Given the description of an element on the screen output the (x, y) to click on. 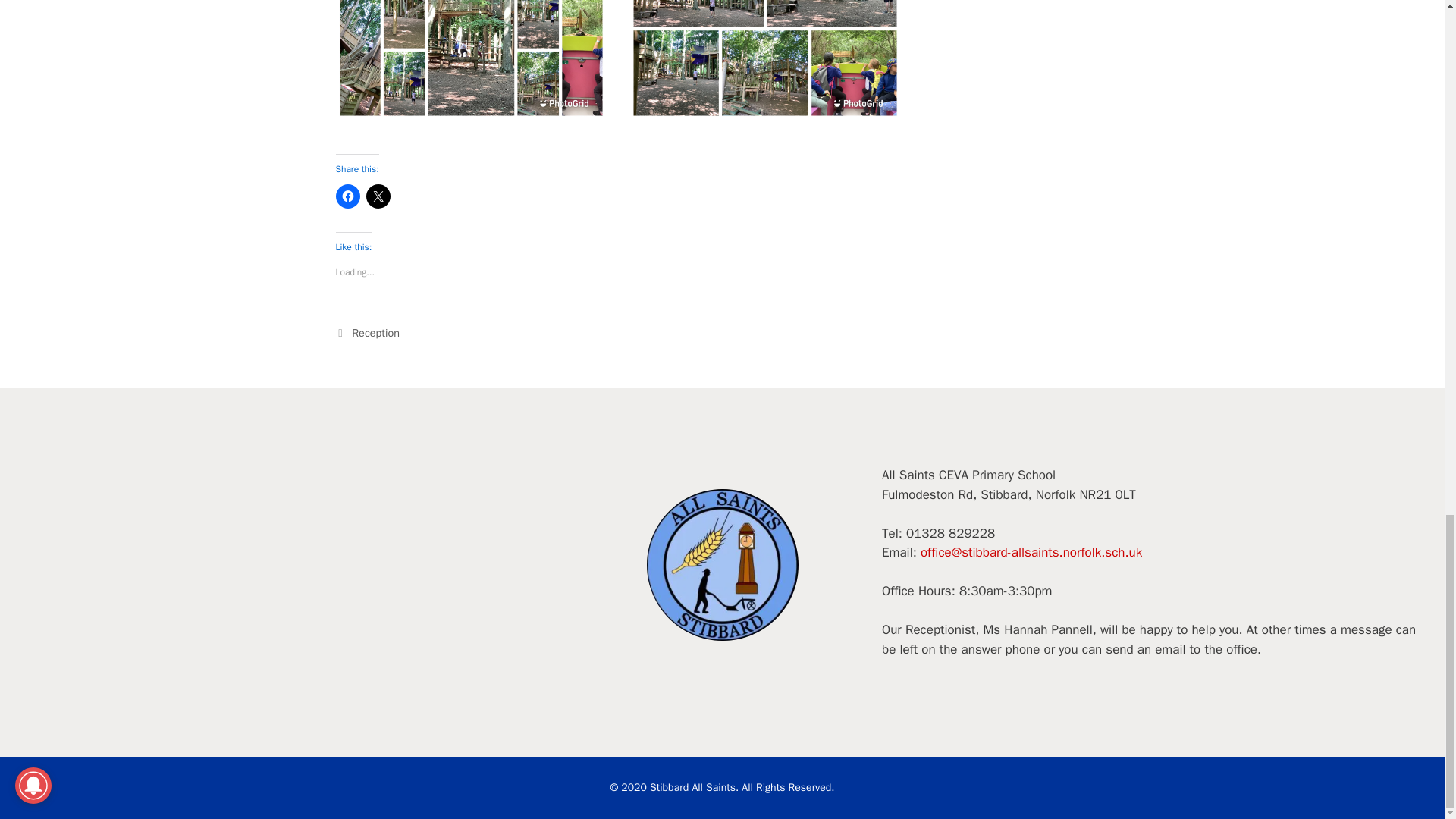
All Saints Logo (721, 564)
Click to share on X (377, 196)
Click to share on Facebook (346, 196)
Scroll back to top (1406, 128)
